Given the description of an element on the screen output the (x, y) to click on. 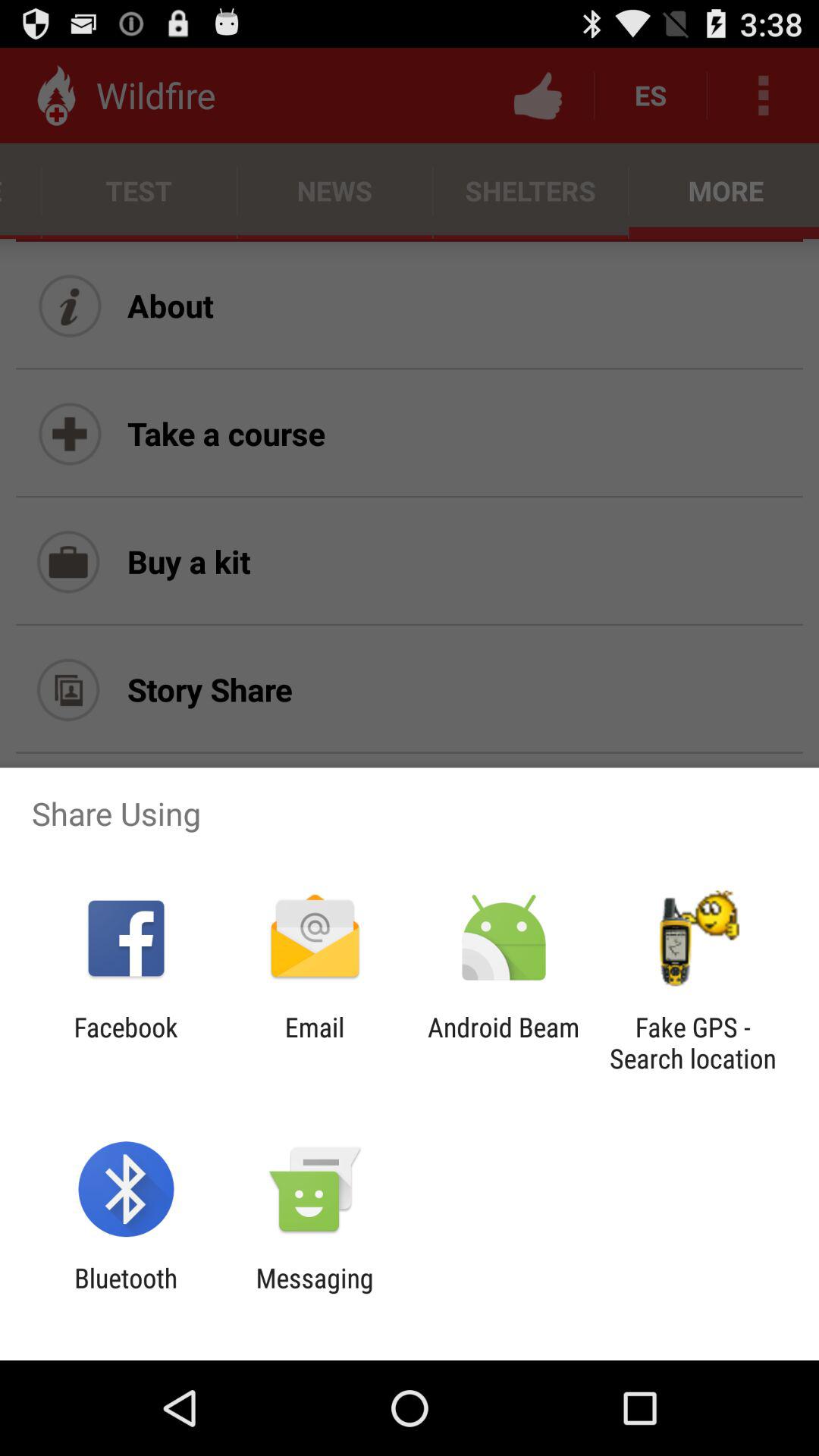
flip to the facebook item (125, 1042)
